Given the description of an element on the screen output the (x, y) to click on. 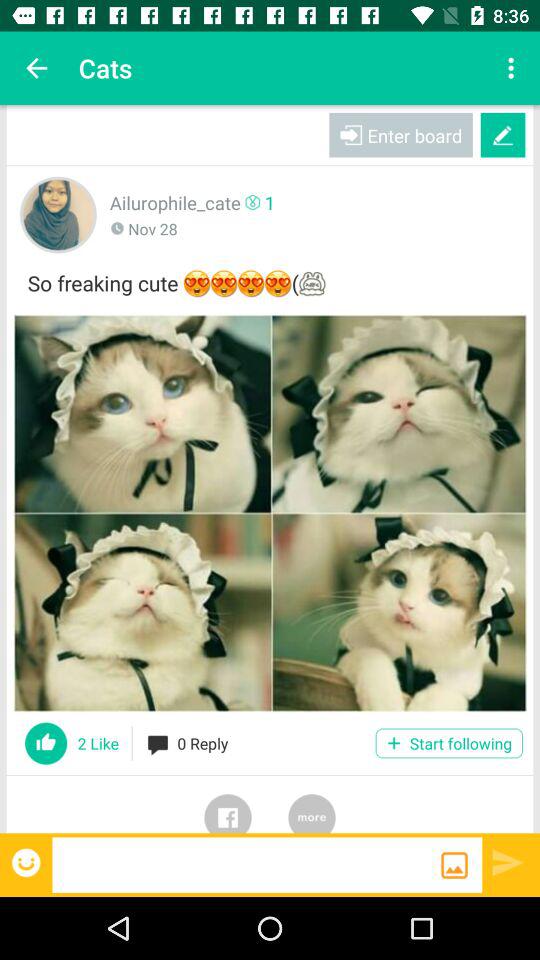
see more (312, 804)
